Given the description of an element on the screen output the (x, y) to click on. 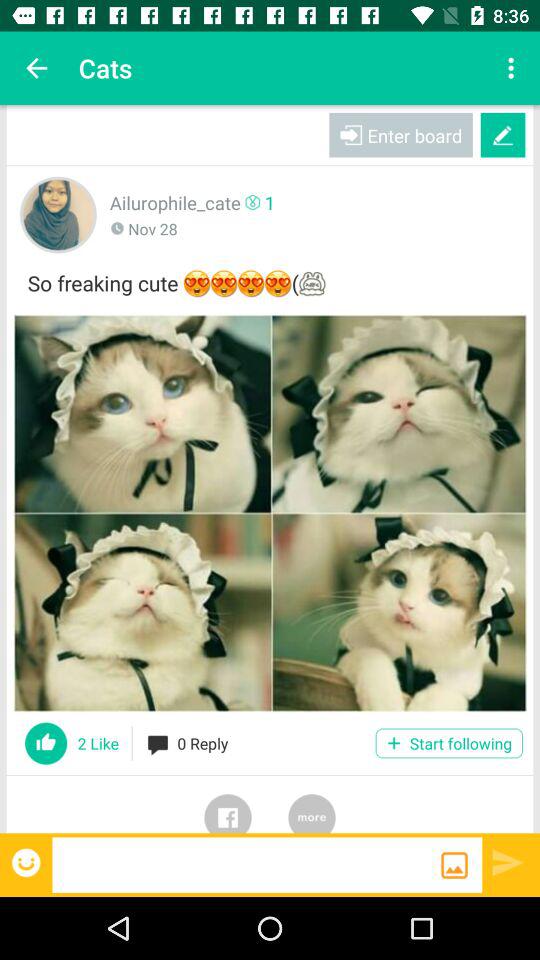
see more (312, 804)
